Given the description of an element on the screen output the (x, y) to click on. 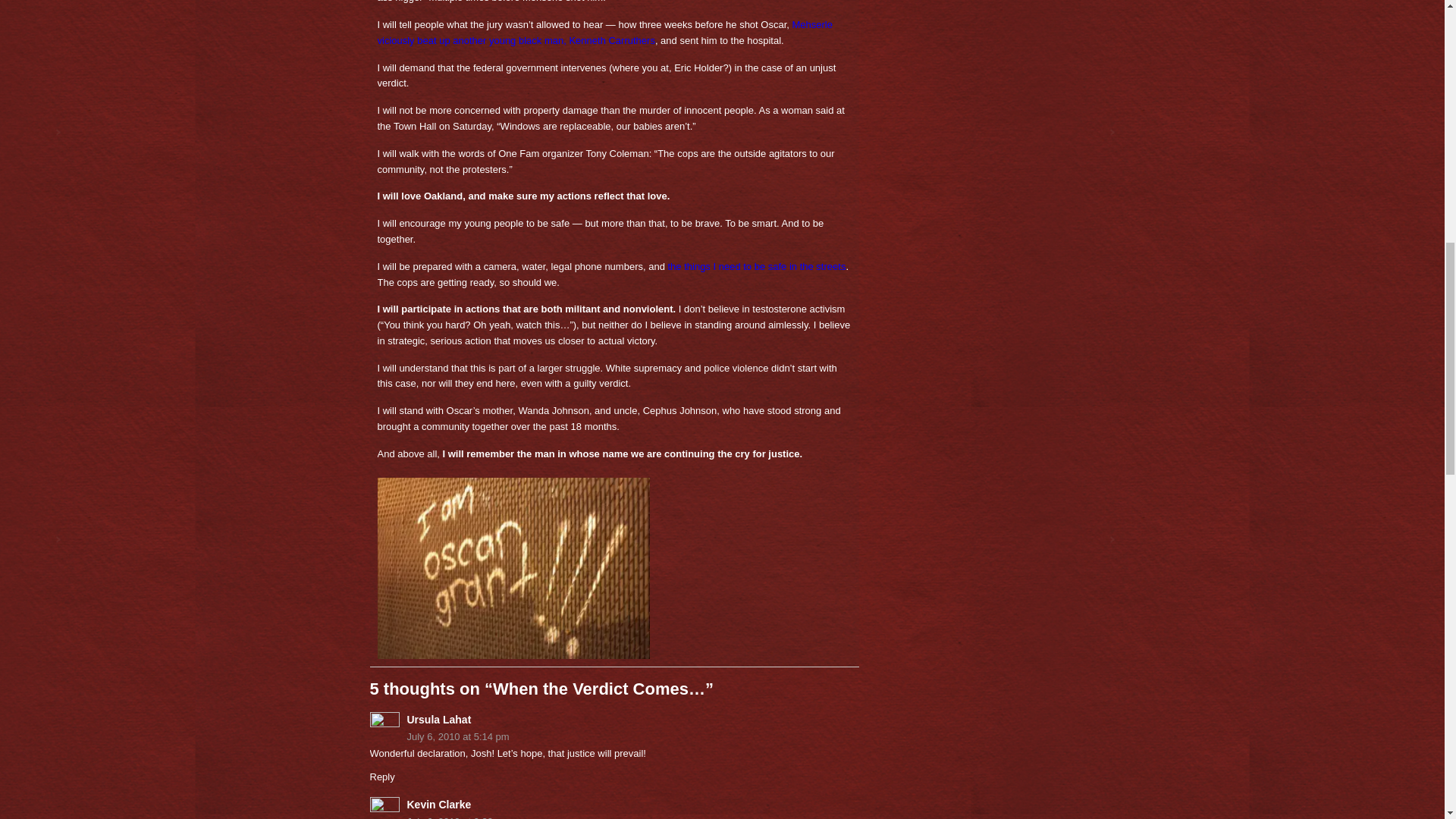
Reply (381, 776)
oscar-grant-memorial (513, 568)
July 6, 2010 at 5:14 pm (614, 737)
the things I need to be safe in the streets (755, 266)
